Given the description of an element on the screen output the (x, y) to click on. 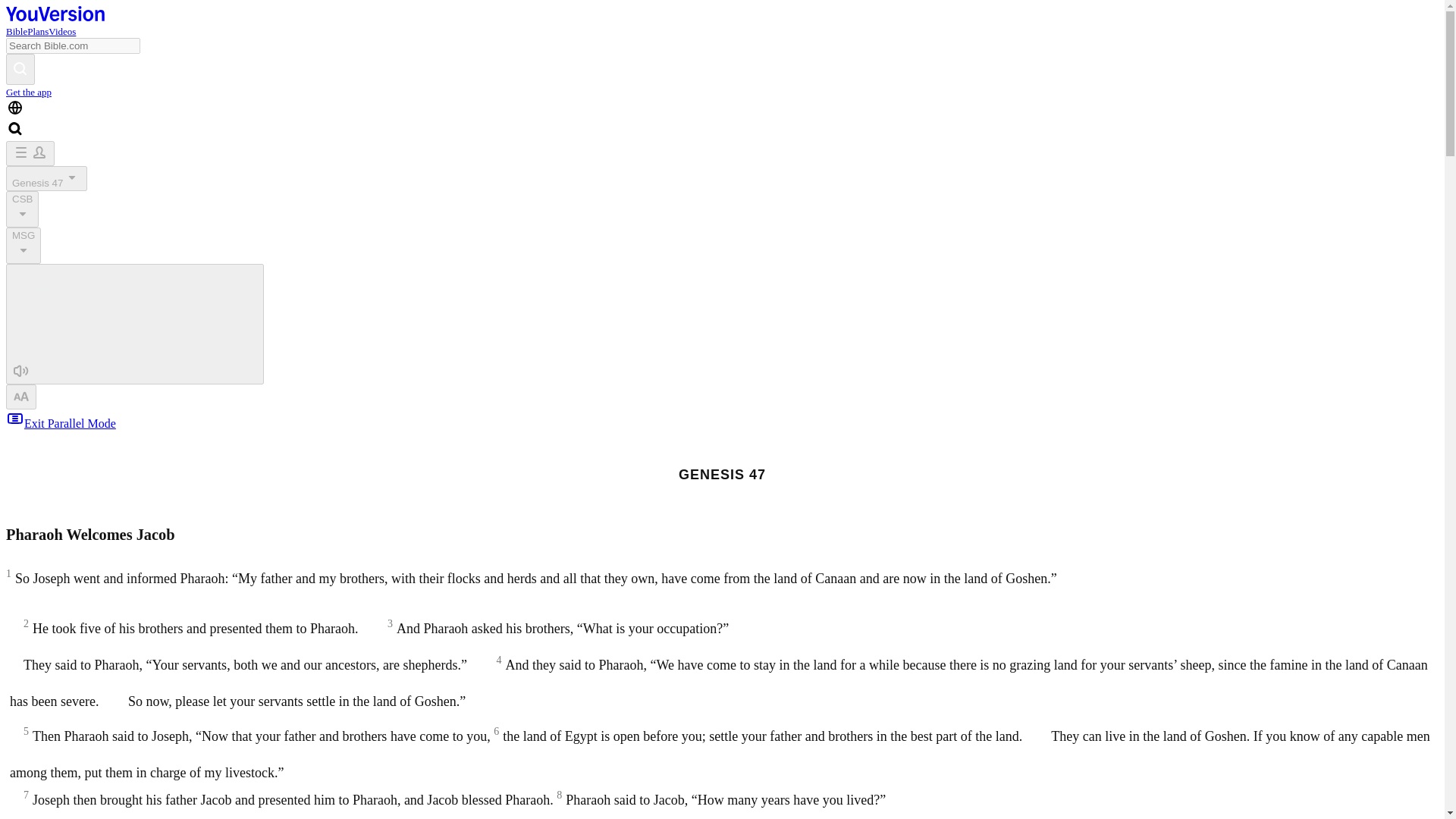
READER SETTINGS (20, 395)
Get the app (27, 91)
Language Selector (14, 107)
Exit Parallel Mode (60, 422)
Search Icon (14, 128)
YouVersion Logo (54, 16)
Videos (61, 30)
CSB (22, 208)
Plans (37, 30)
READER SETTINGS (20, 396)
YouVersion Logo (54, 13)
Search (20, 67)
Search (19, 69)
AUDIO (20, 370)
Bible (16, 30)
